Given the description of an element on the screen output the (x, y) to click on. 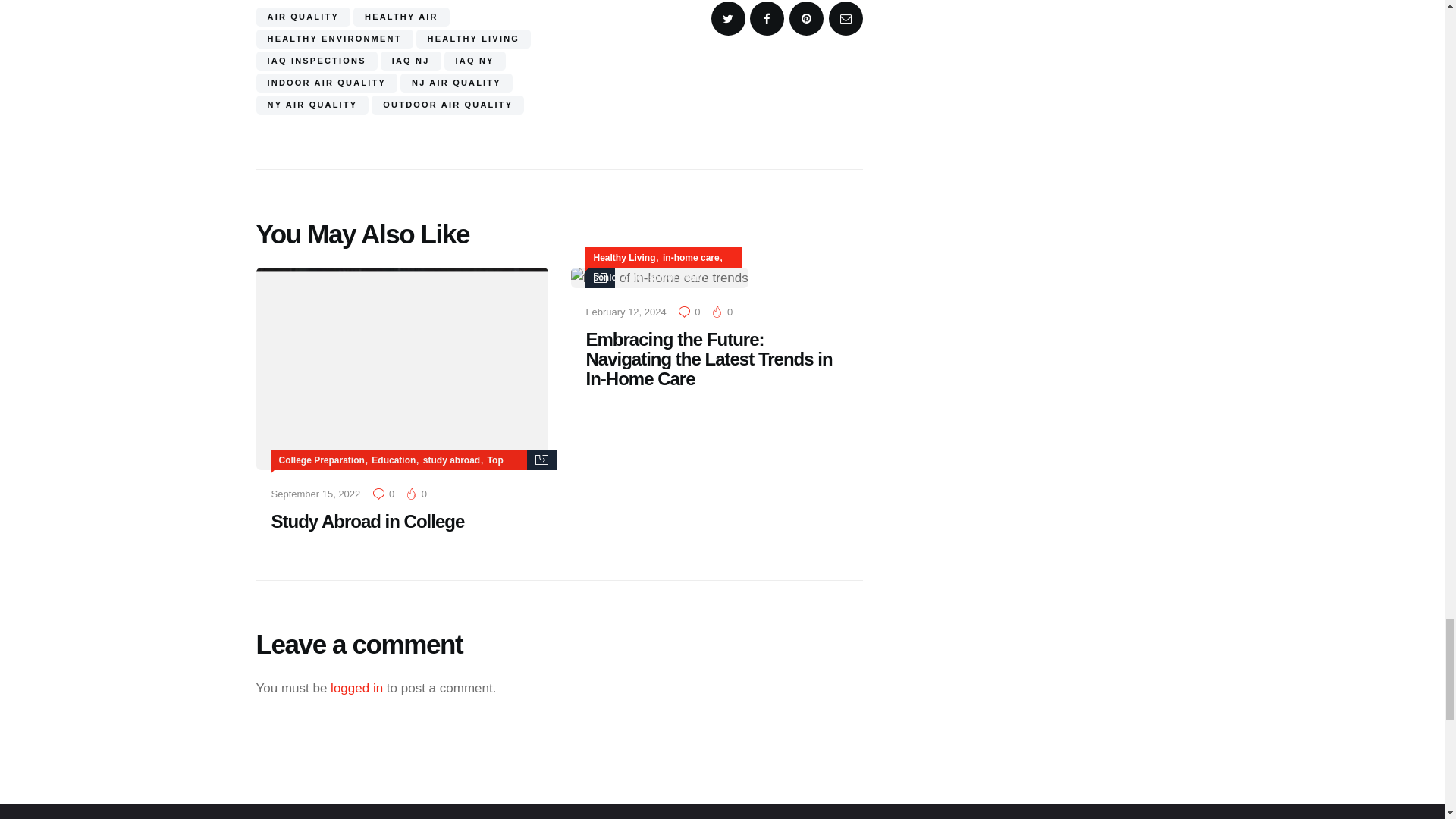
View all posts in Healthy Living (623, 257)
Like (417, 493)
View all posts in College Preparation (322, 460)
View all posts in Top News (391, 470)
View all posts in Education (392, 460)
View all posts in study abroad (451, 460)
